Given the description of an element on the screen output the (x, y) to click on. 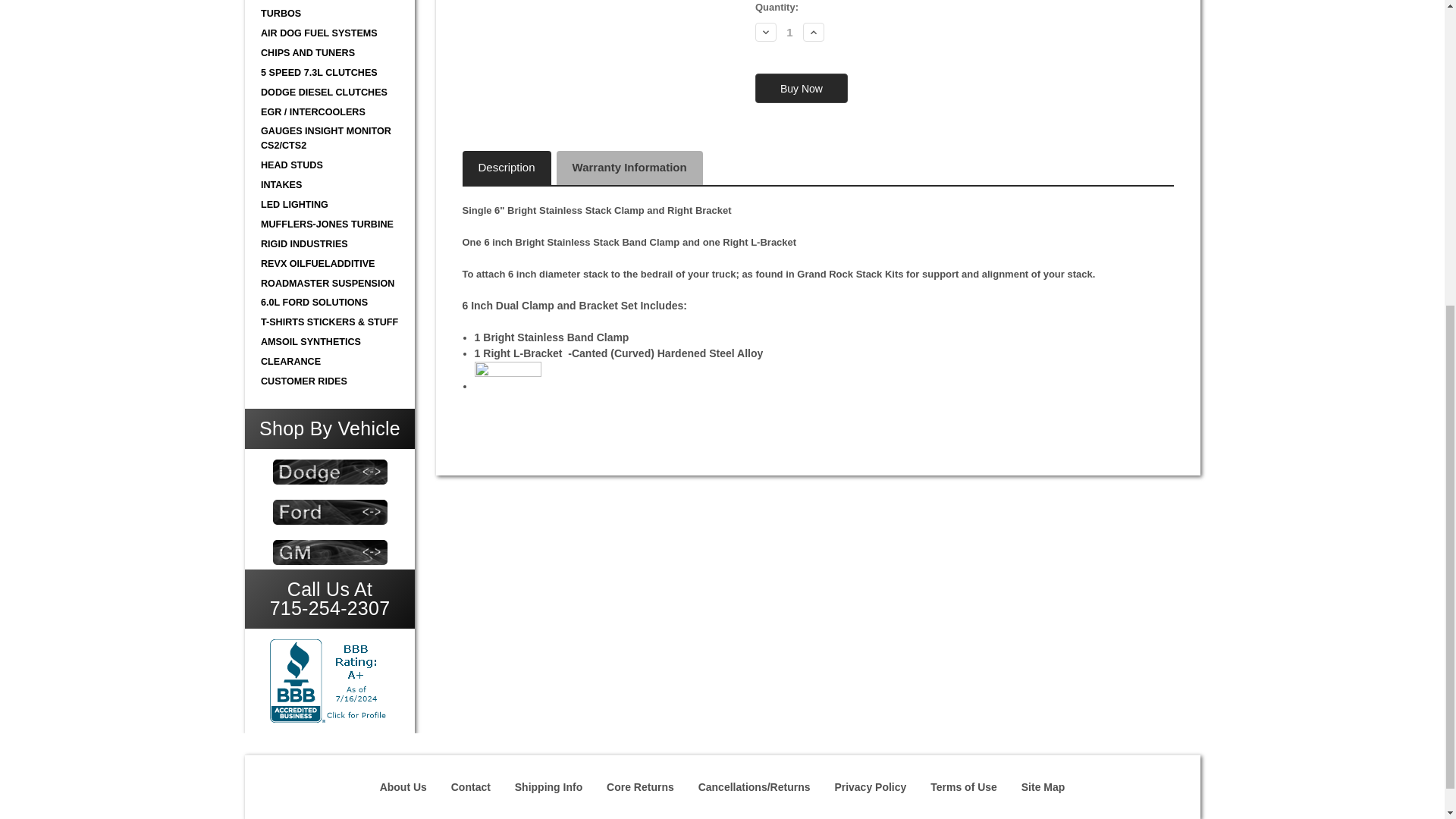
Black Cloud Diesel Performance, LLC BBB Business Review (329, 680)
Buy Now (801, 88)
1 (789, 31)
